Given the description of an element on the screen output the (x, y) to click on. 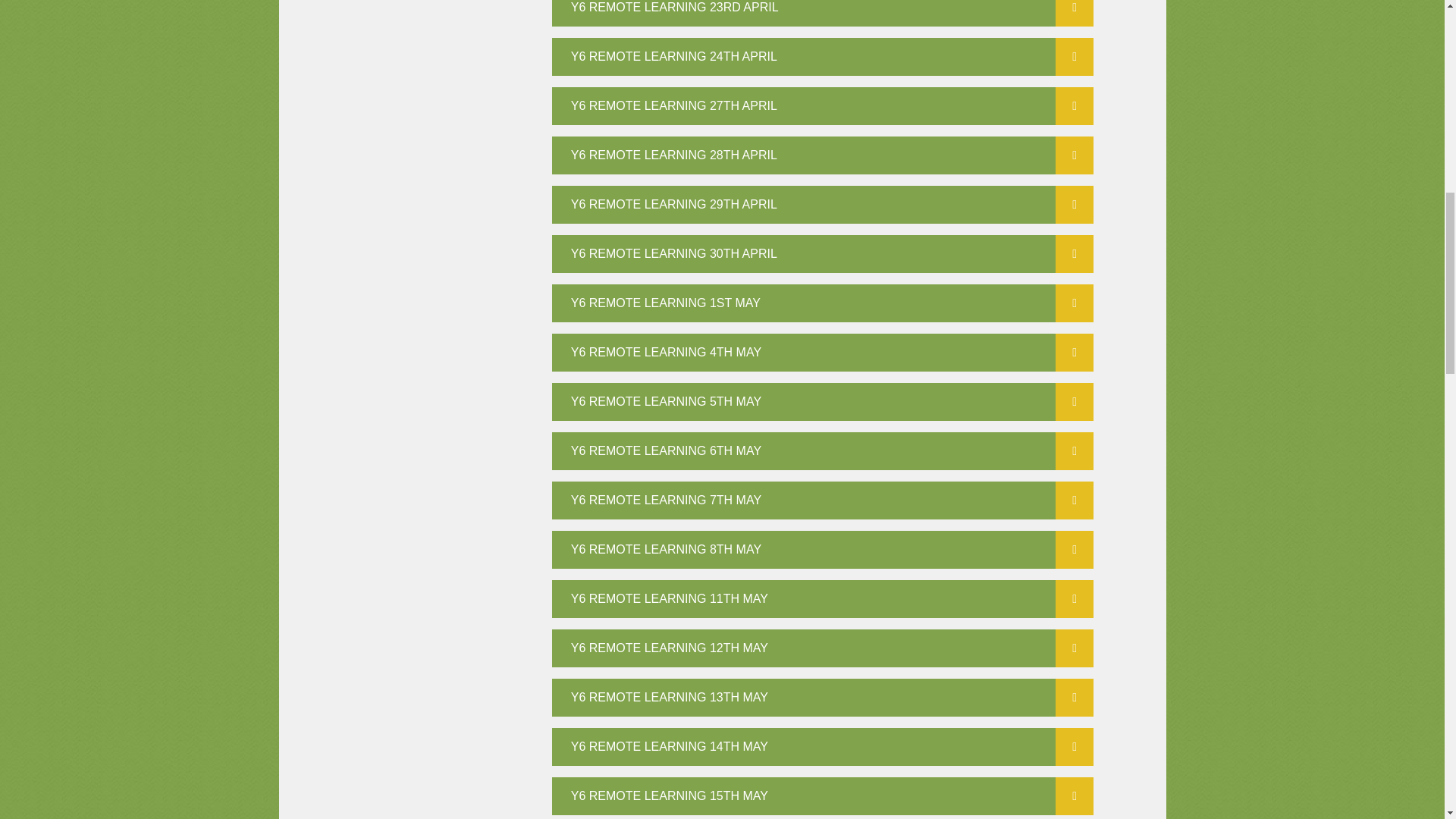
Y6 REMOTE LEARNING 24TH APRIL (822, 56)
Download (1074, 352)
Y6 REMOTE LEARNING 29TH APRIL (822, 204)
Download (1074, 105)
Y6 REMOTE LEARNING 13TH MAY (822, 697)
Y6 REMOTE LEARNING 4TH MAY (822, 352)
Y6 REMOTE LEARNING 14TH MAY (822, 746)
Download (1074, 303)
Y6 REMOTE LEARNING 28TH APRIL (822, 155)
Download (1074, 500)
Download (1074, 598)
Download (1074, 13)
Download (1074, 401)
Download (1074, 253)
Y6 REMOTE LEARNING 15TH MAY (822, 795)
